Given the description of an element on the screen output the (x, y) to click on. 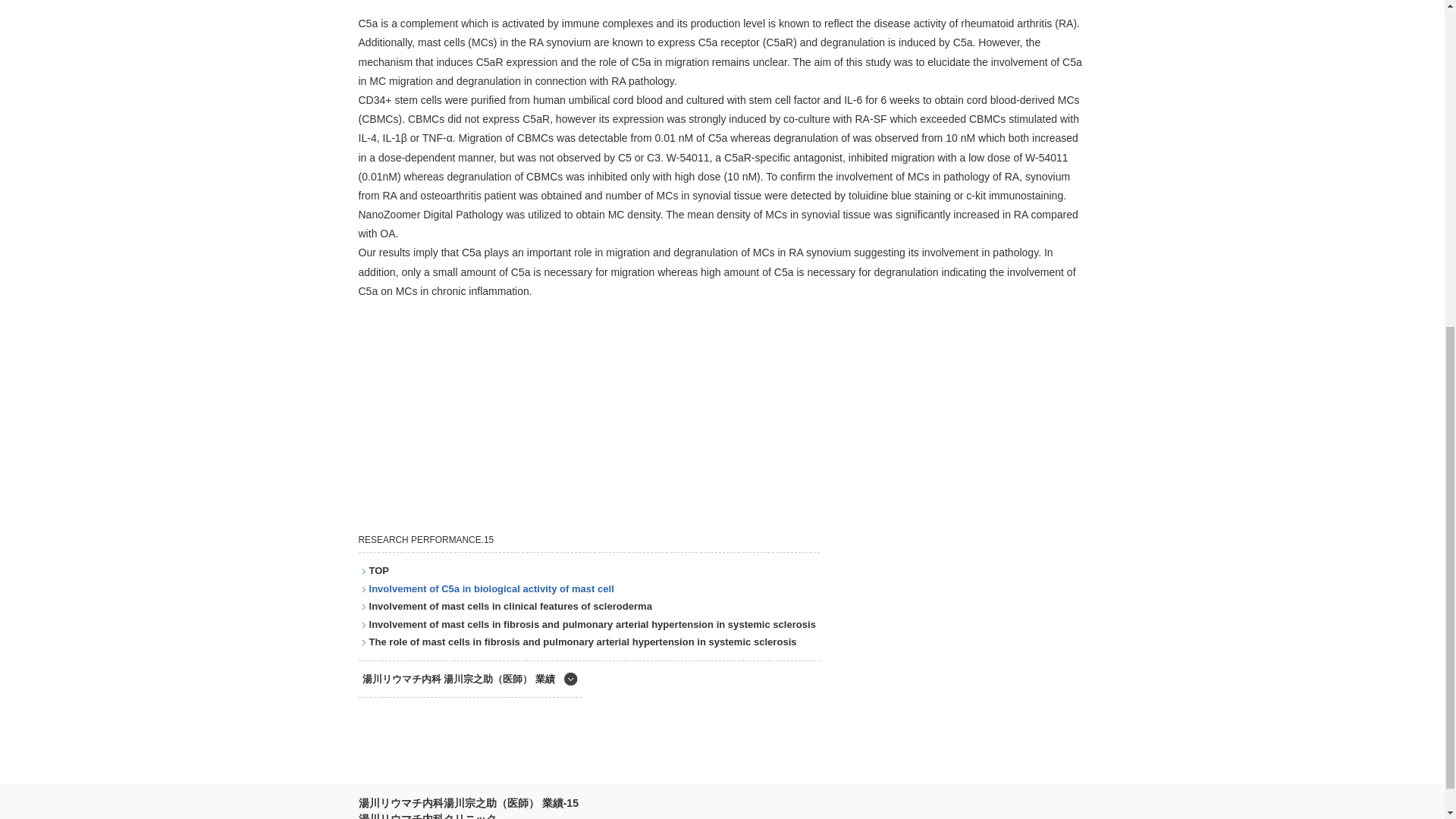
TOP (378, 570)
Involvement of C5a in biological activity of mast cell (490, 588)
